Given the description of an element on the screen output the (x, y) to click on. 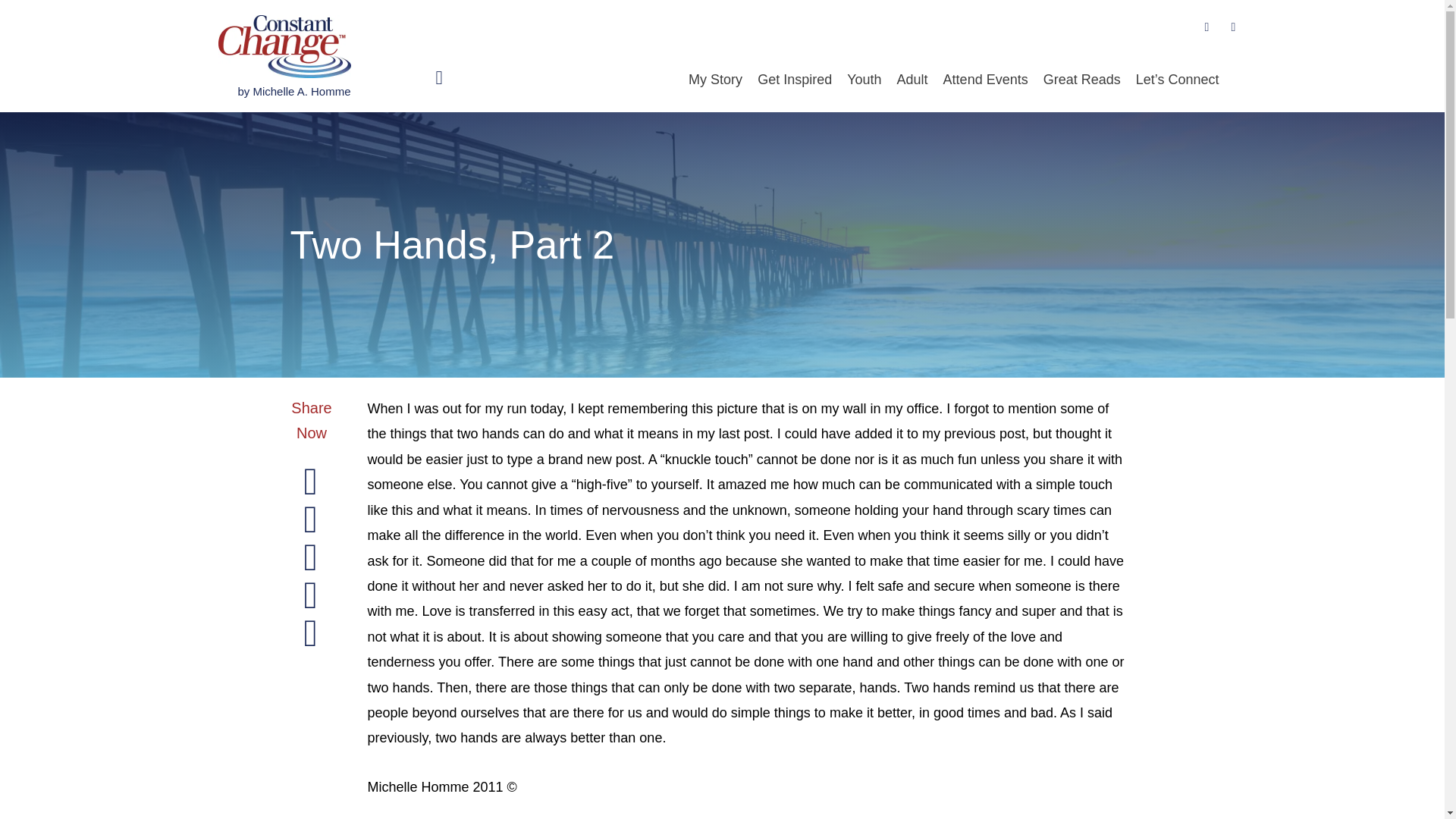
Get Inspired (794, 79)
My Story (715, 79)
Attend Events (985, 79)
Youth (864, 79)
Great Reads (1081, 79)
Adult (912, 79)
